Given the description of an element on the screen output the (x, y) to click on. 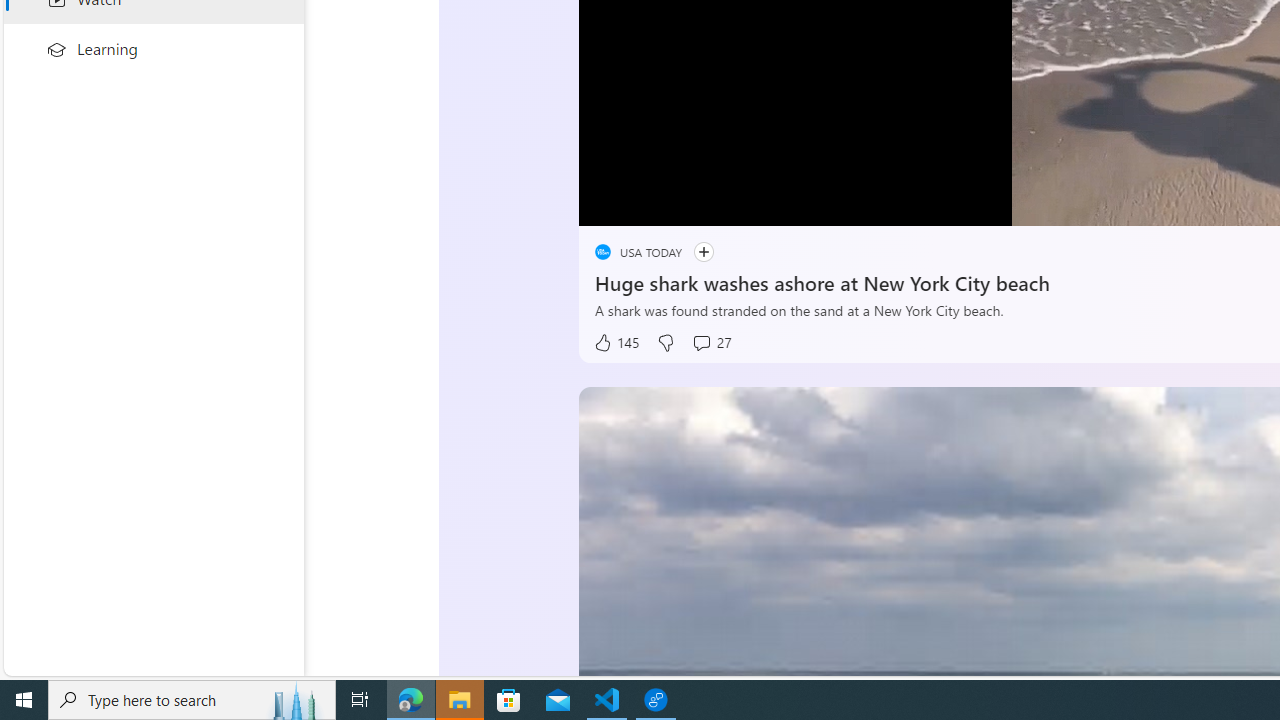
145 Like (615, 343)
Seek Forward (688, 203)
placeholder (601, 252)
Seek Back (648, 203)
Follow (703, 251)
Pause (607, 203)
placeholder USA TODAY (637, 252)
View comments 27 Comment (711, 343)
Dislike (664, 343)
